Given the description of an element on the screen output the (x, y) to click on. 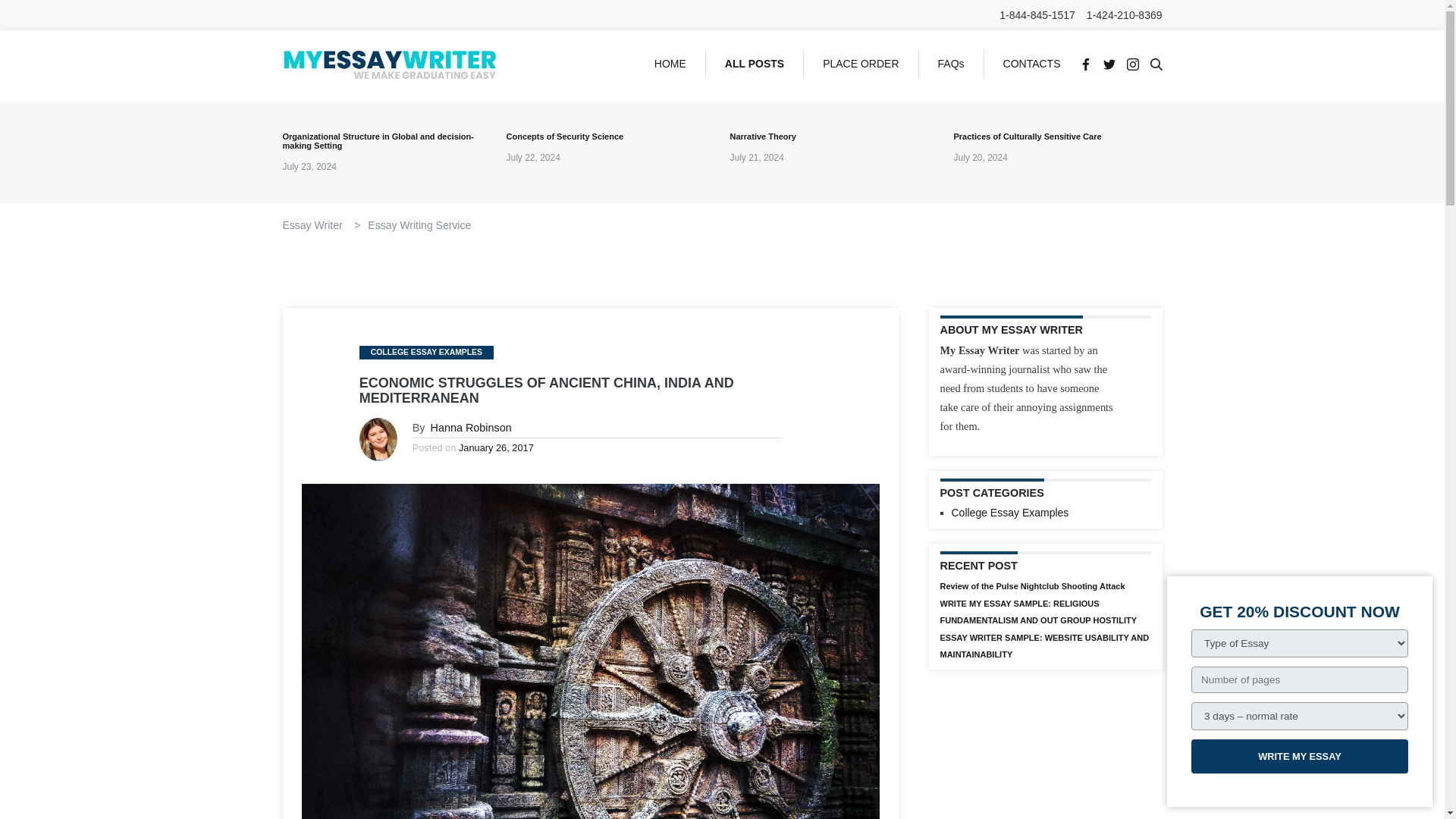
Narrative Theory (833, 135)
Practices of Culturally Sensitive Care (1057, 135)
Concepts of Security Science (610, 135)
CONTACTS (1032, 62)
FAQs (951, 63)
HOME (670, 63)
PLACE ORDER (860, 63)
Posts by Hanna Robinson (471, 427)
WRITE MY ESSAY (1299, 756)
1-844-845-1517 (1036, 15)
1-424-210-8369 (1123, 15)
January 26, 2017 (496, 447)
COLLEGE ESSAY EXAMPLES (426, 352)
Essay Writing Service (419, 224)
